Given the description of an element on the screen output the (x, y) to click on. 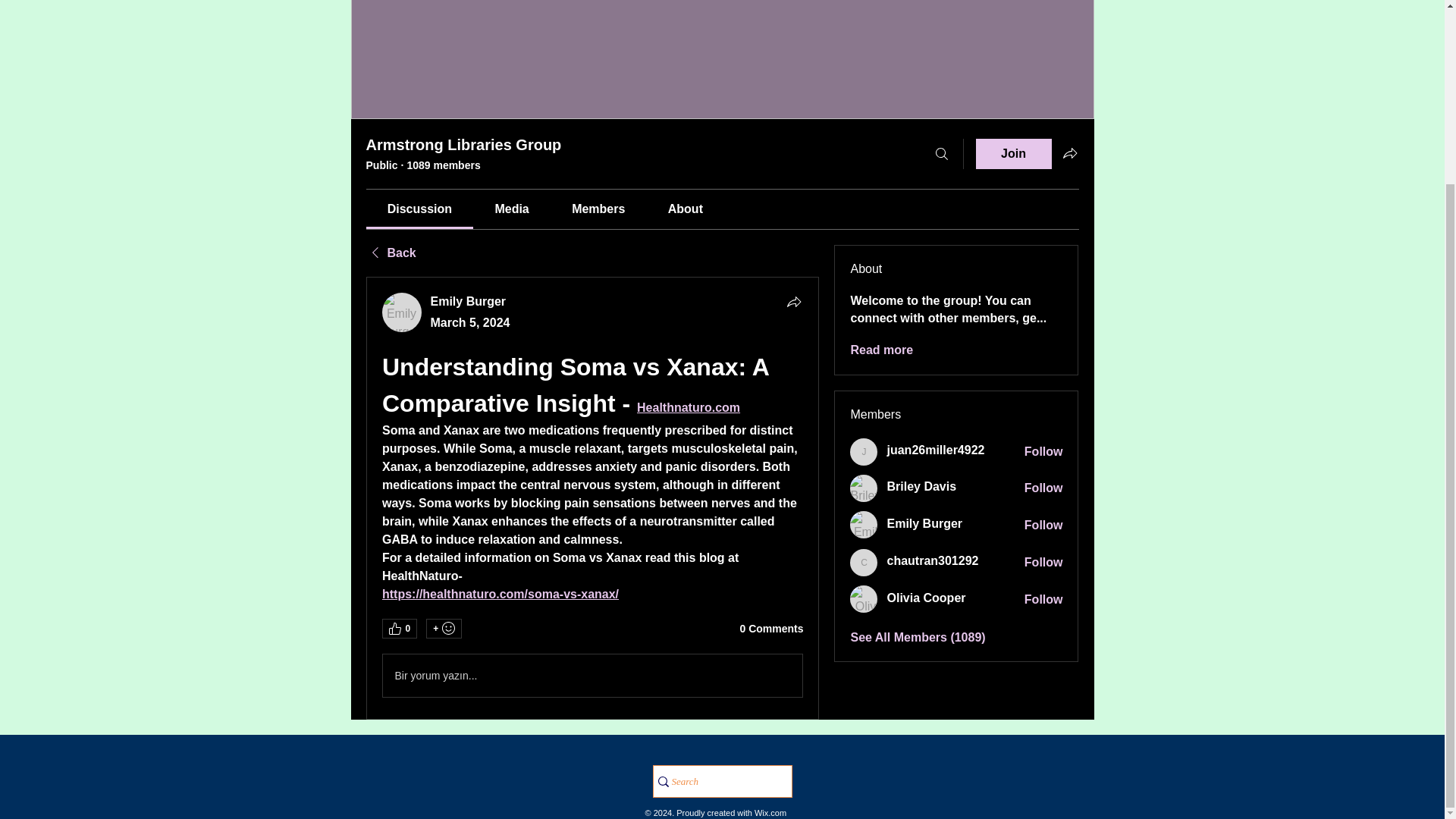
Follow (1043, 524)
Briley Davis (863, 488)
juan26miller4922 (935, 450)
Follow (1043, 599)
Follow (1043, 562)
chautran301292 (932, 560)
Follow (1043, 451)
chautran301292 (863, 562)
chautran301292 (932, 560)
